Given the description of an element on the screen output the (x, y) to click on. 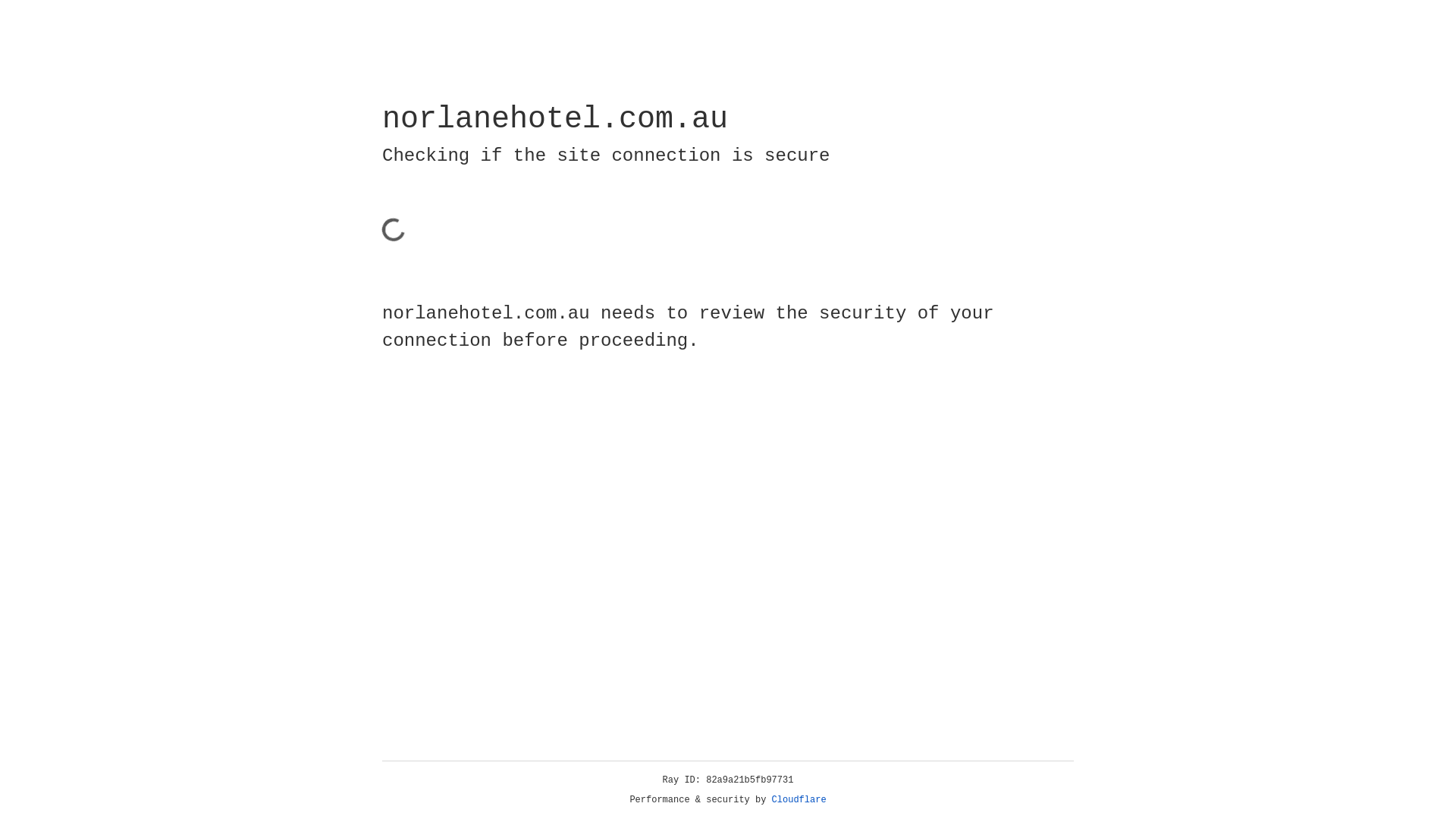
Cloudflare Element type: text (798, 799)
